Given the description of an element on the screen output the (x, y) to click on. 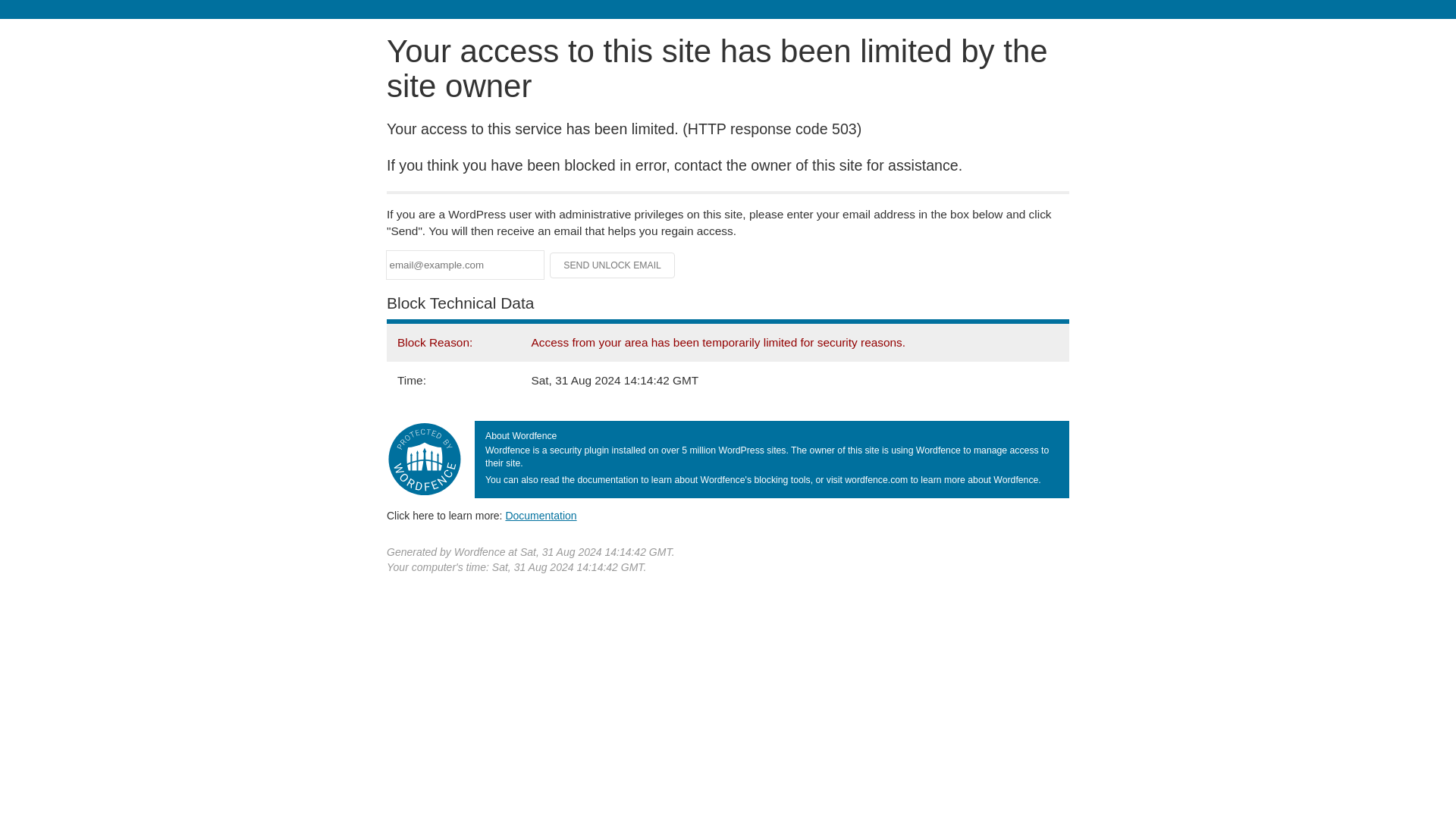
Send Unlock Email (612, 265)
Documentation (540, 515)
Send Unlock Email (612, 265)
